Given the description of an element on the screen output the (x, y) to click on. 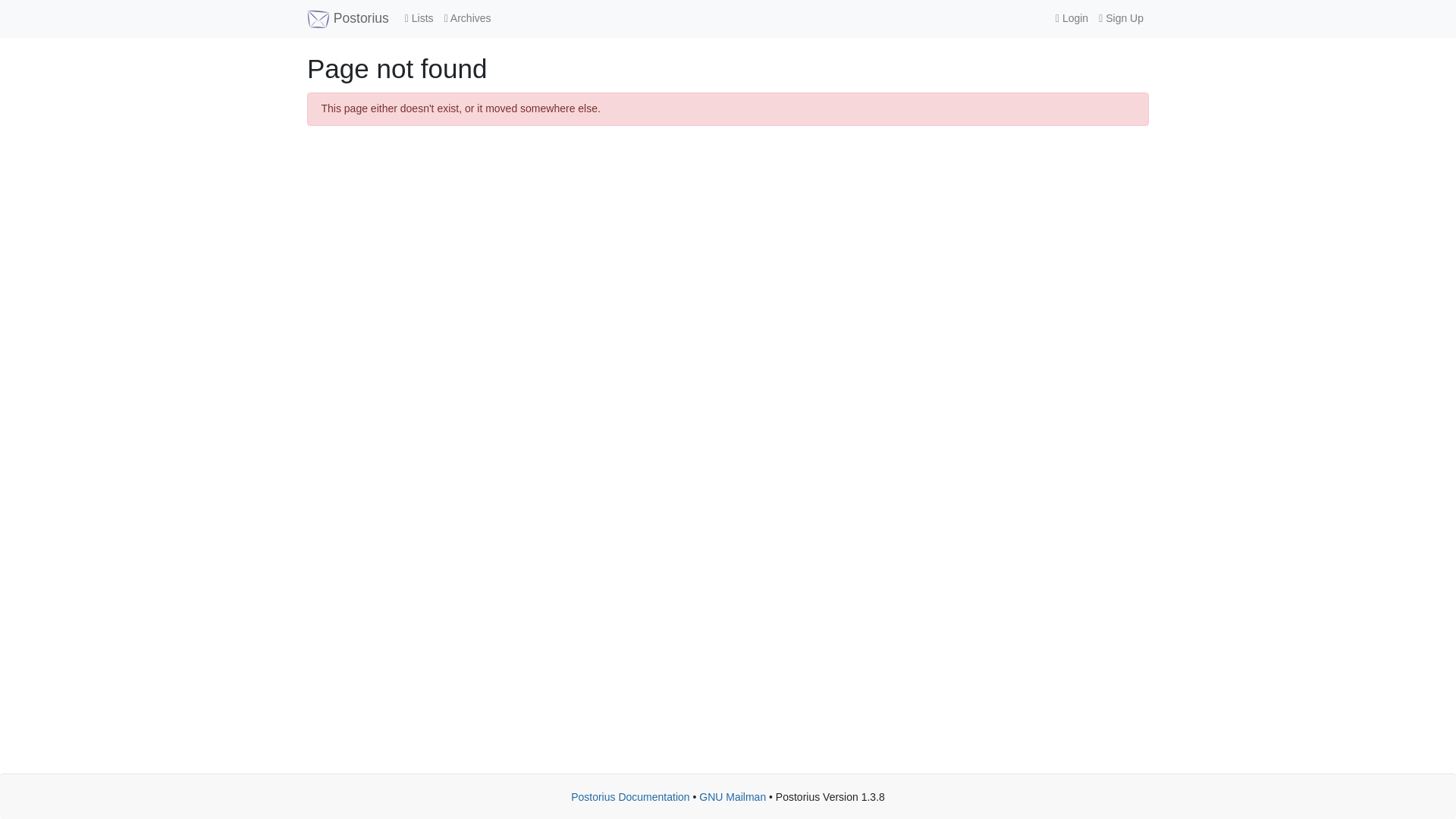
Lists (418, 17)
Sign Up (1120, 17)
Postorius (347, 18)
Login (1071, 17)
Archives (467, 17)
